Given the description of an element on the screen output the (x, y) to click on. 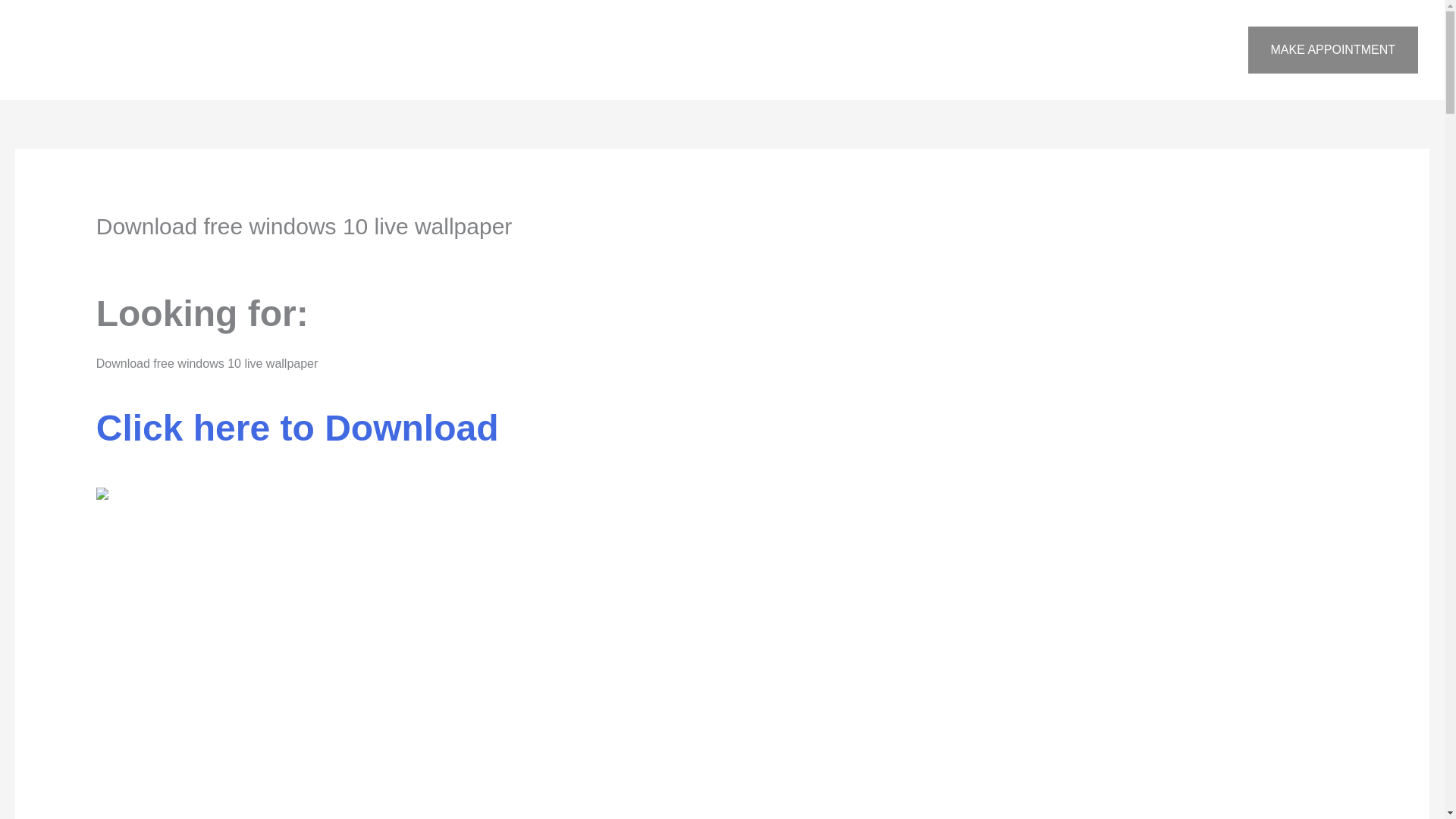
MAKE APPOINTMENT (1332, 49)
mcc (216, 256)
admin (272, 256)
SERVICES (1021, 49)
ABOUT US (936, 49)
BLOGS (1198, 49)
Leave a Comment (145, 256)
Click here to Download (297, 436)
View all posts by admin (272, 256)
CONTACT US (1115, 49)
